Given the description of an element on the screen output the (x, y) to click on. 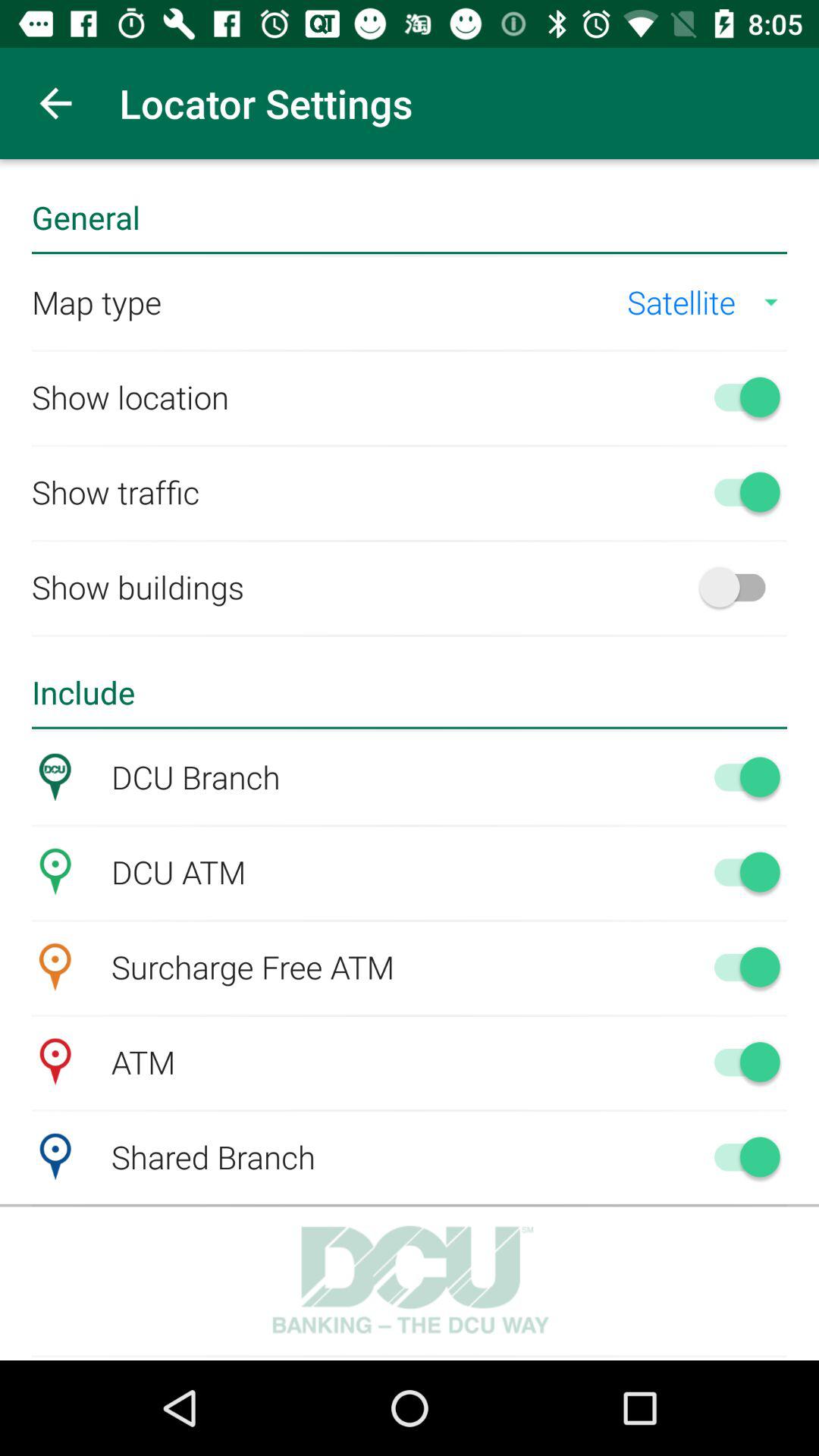
dcubranch (739, 776)
